Given the description of an element on the screen output the (x, y) to click on. 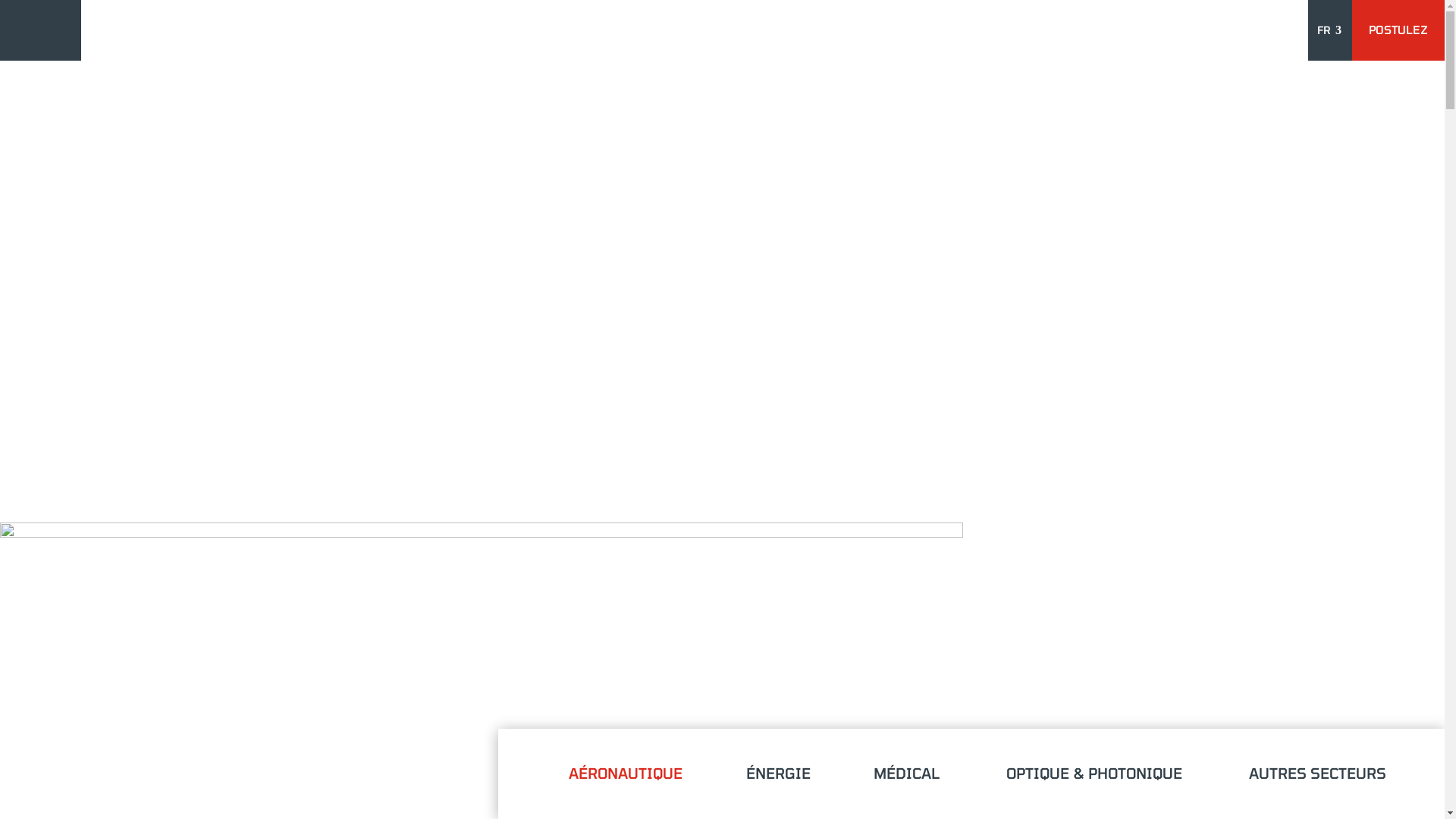
FR Element type: text (1330, 30)
  Element type: text (1297, 29)
POSTULEZ Element type: text (1398, 30)
